Given the description of an element on the screen output the (x, y) to click on. 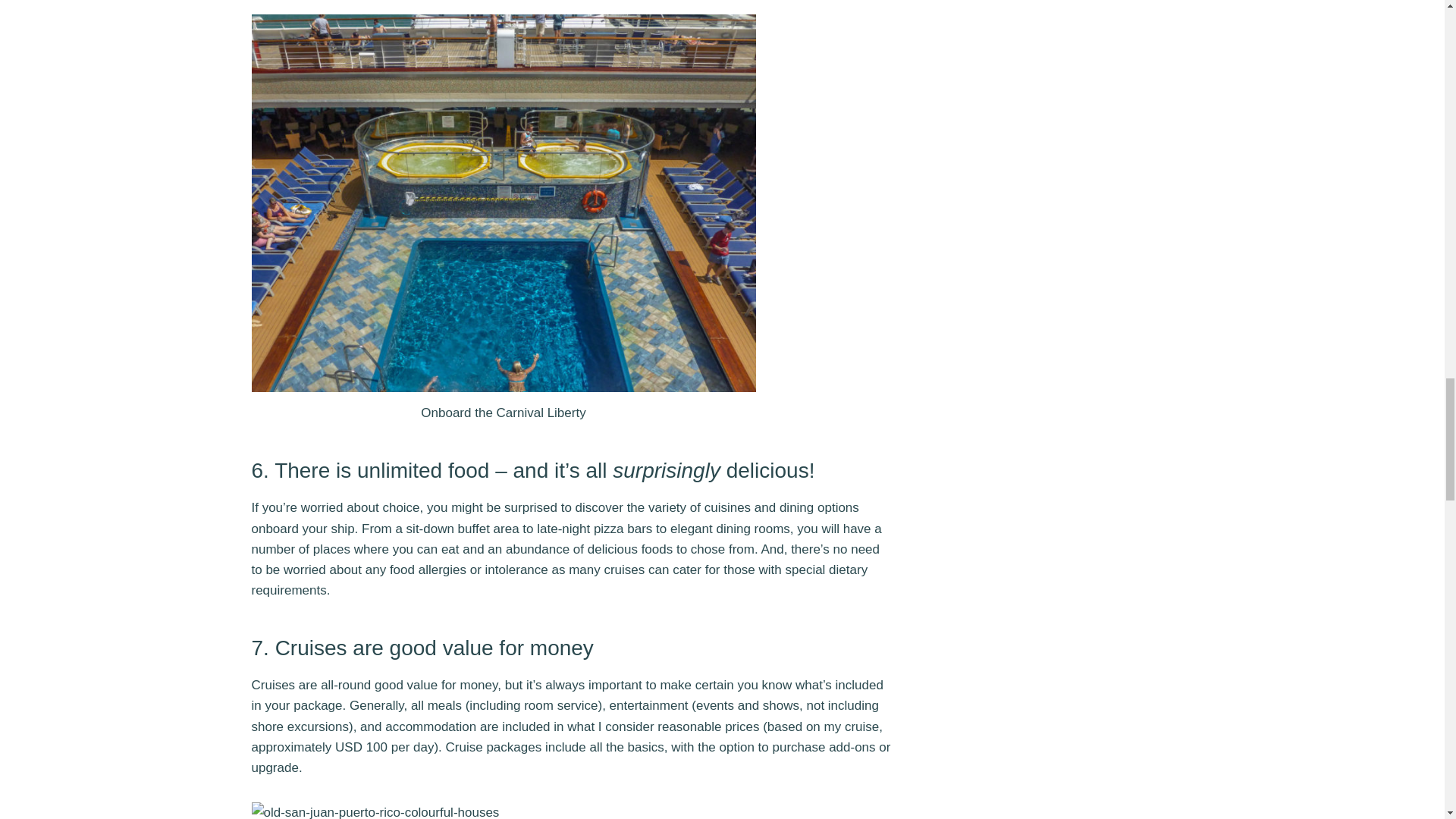
Old San Juan, Puerto Rico (517, 810)
